Given the description of an element on the screen output the (x, y) to click on. 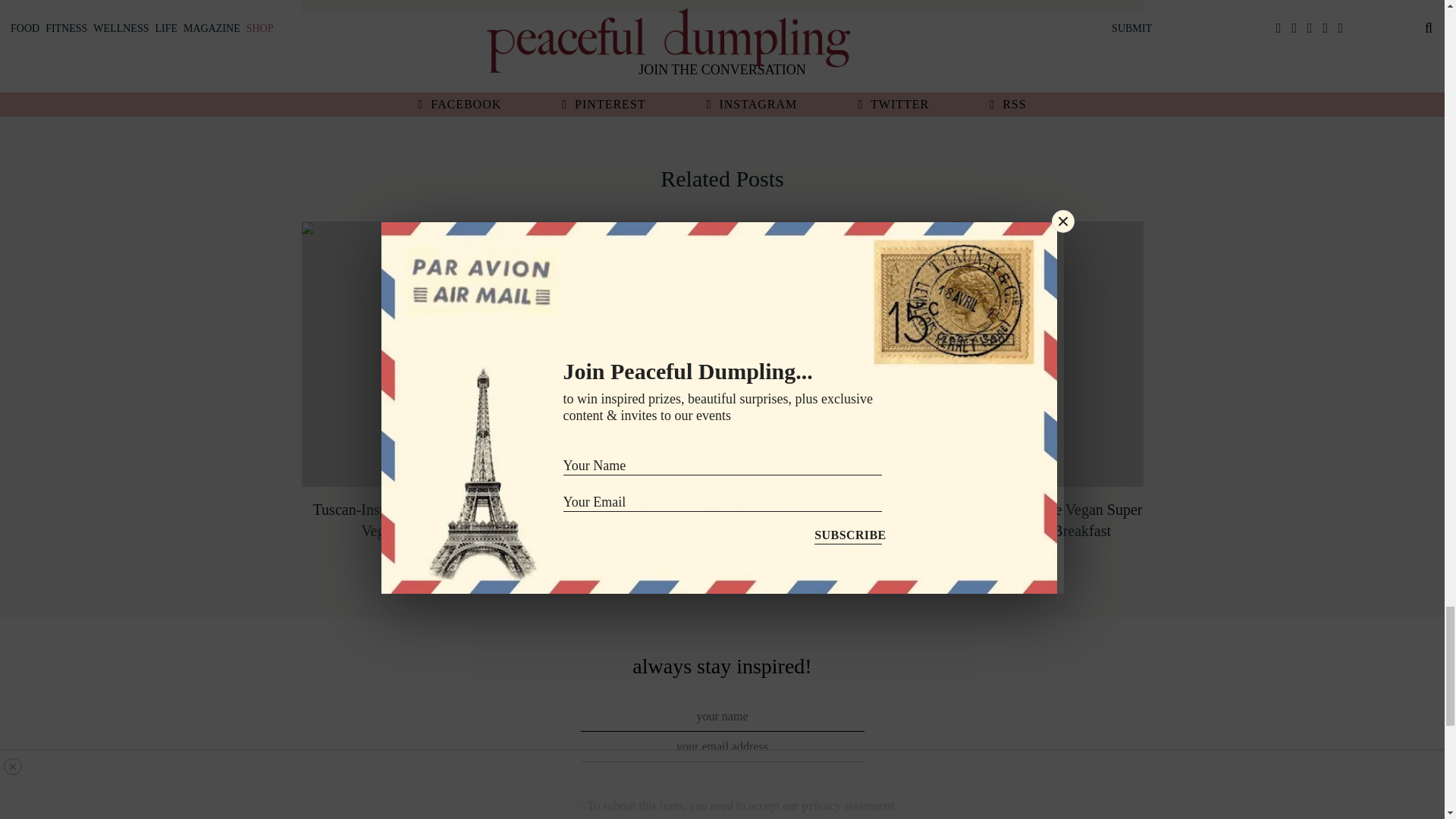
1 (581, 804)
